Given the description of an element on the screen output the (x, y) to click on. 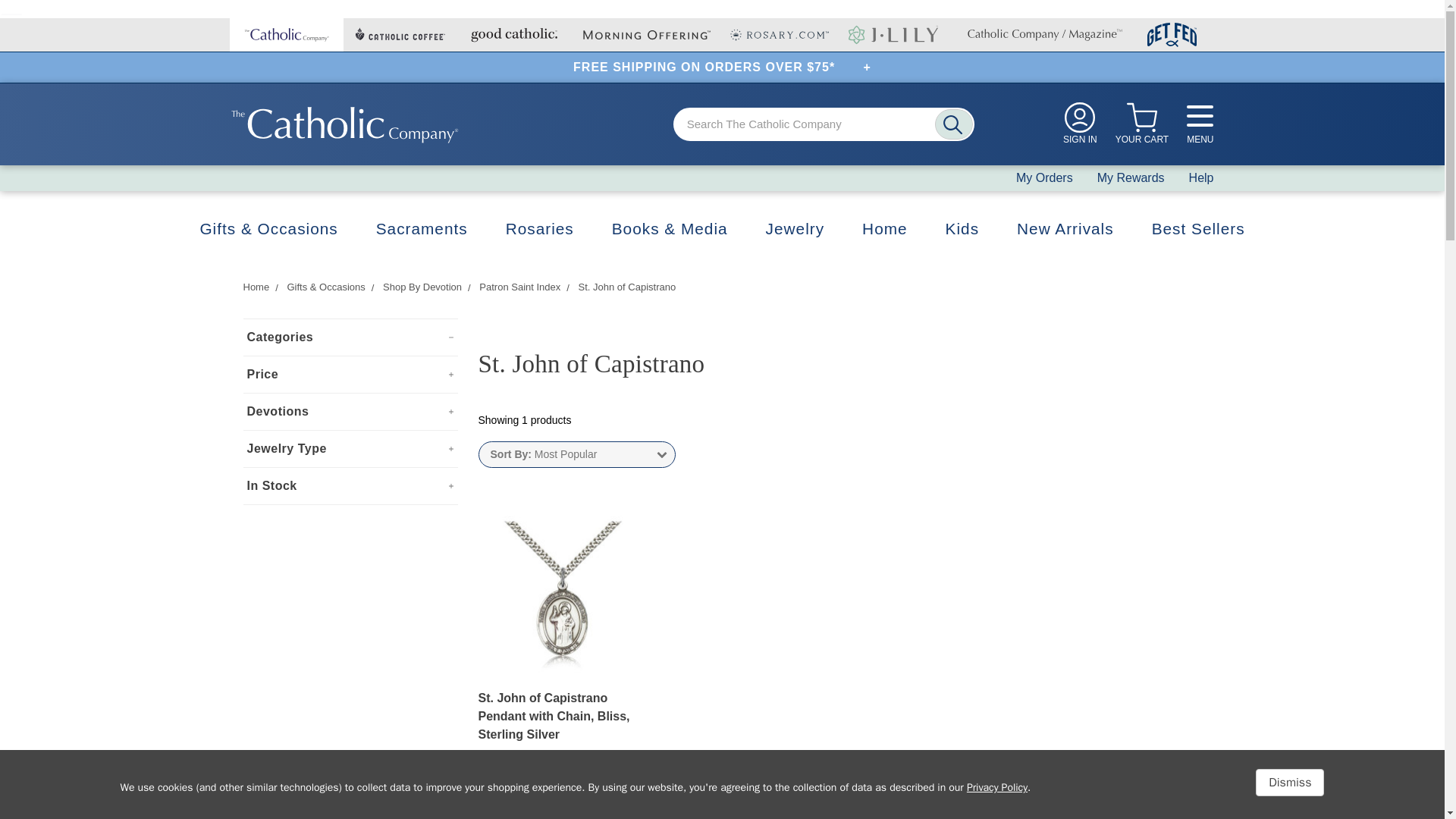
YOUR CART (1142, 124)
This product has no reviews yet (562, 793)
